Given the description of an element on the screen output the (x, y) to click on. 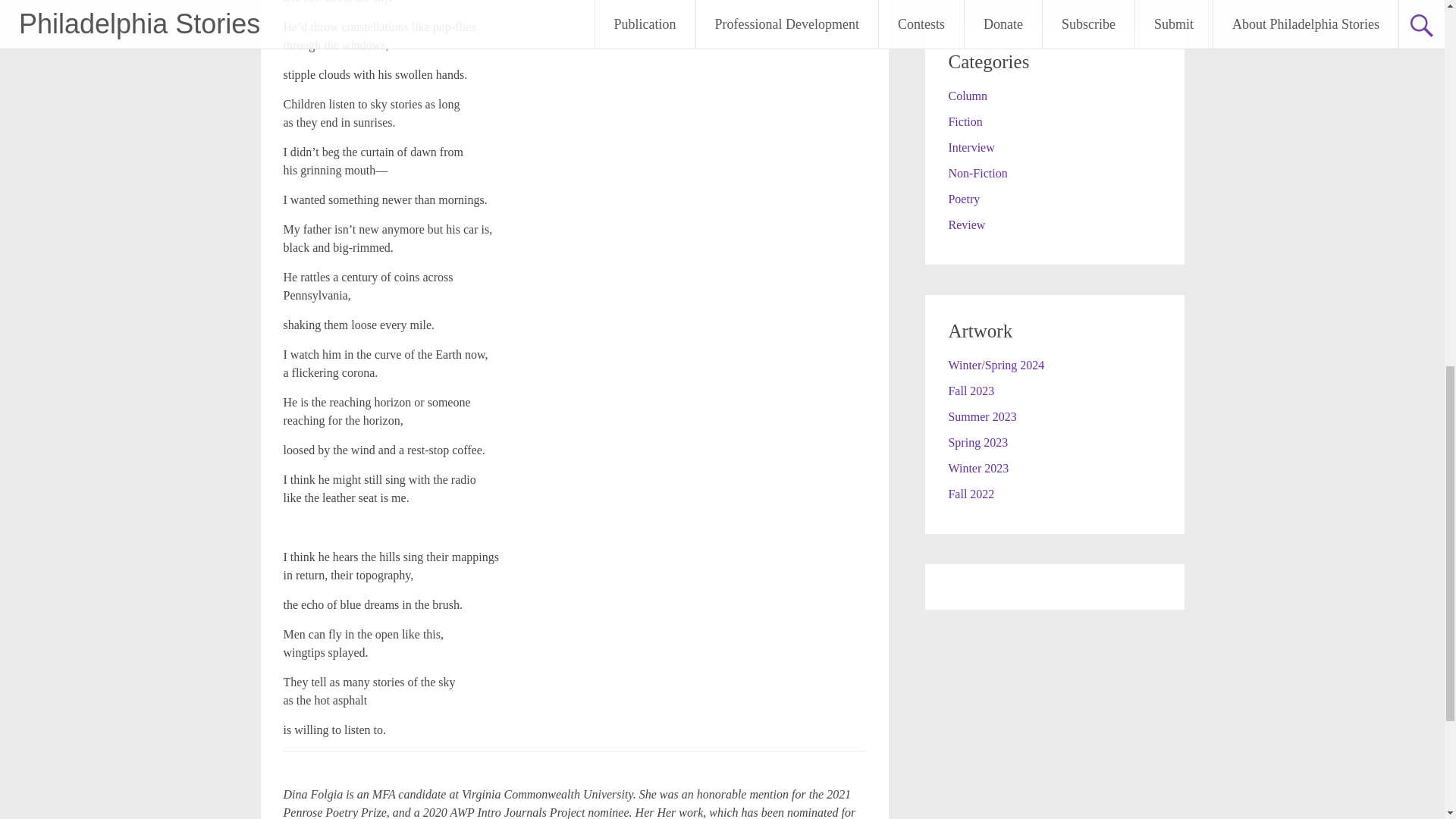
Poetry (963, 198)
Non-Fiction (977, 173)
Column (967, 95)
Fiction (964, 121)
Interview (970, 146)
Fall 2023 (970, 390)
Review (966, 224)
